Given the description of an element on the screen output the (x, y) to click on. 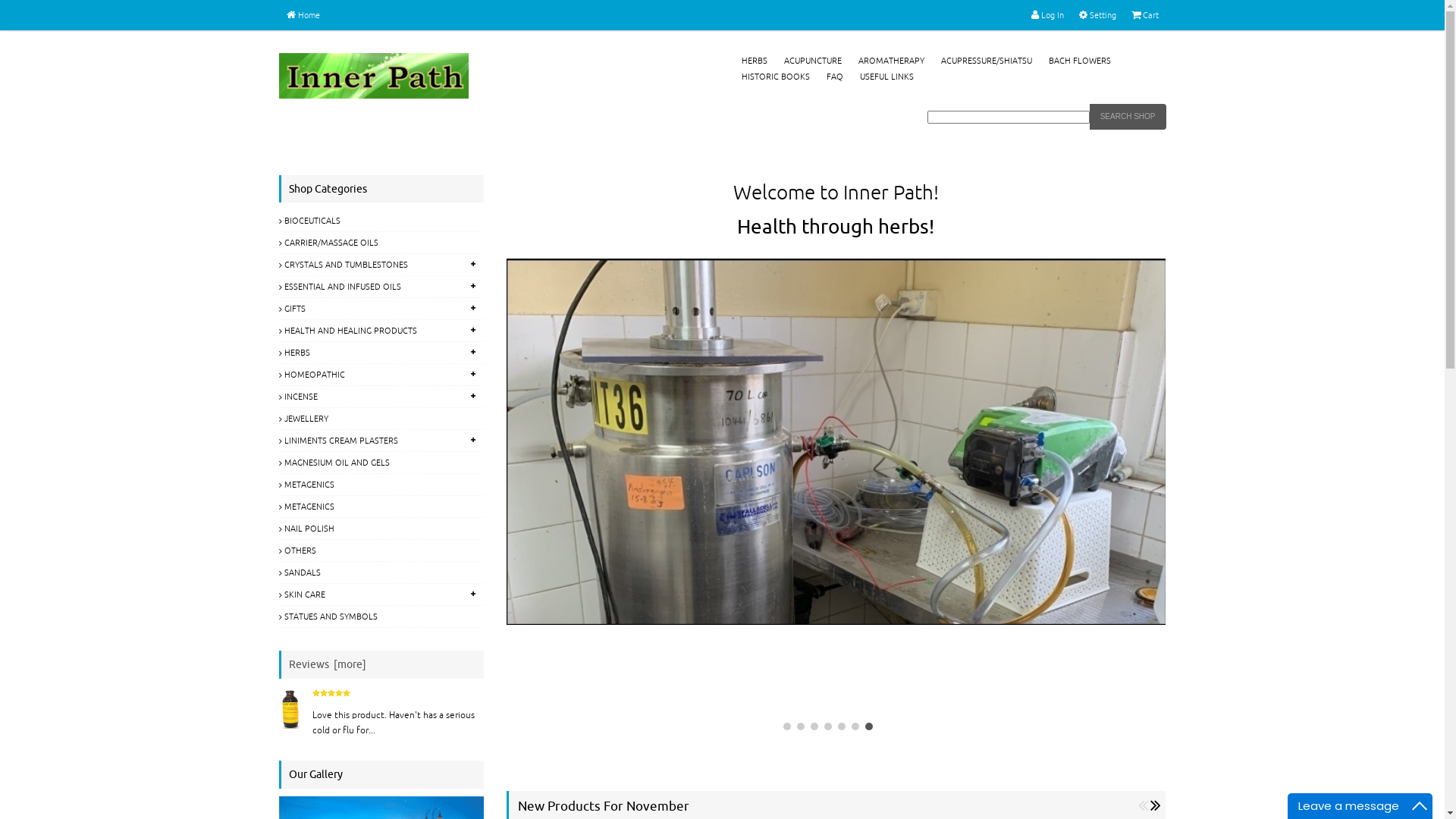
 Cold & Flu Mix 200 ml  Element type: hover (291, 707)
AROMATHERAPY Element type: text (891, 60)
HOMEOPATHIC Element type: text (381, 374)
BIOCEUTICALS Element type: text (381, 221)
HERBS Element type: text (381, 353)
HEALTH AND HEALING PRODUCTS Element type: text (381, 331)
BACH FLOWERS Element type: text (1078, 60)
MAGNESIUM OIL AND GELS Element type: text (381, 462)
METAGENICS Element type: text (381, 506)
NAIL POLISH Element type: text (381, 528)
USEFUL LINKS Element type: text (886, 76)
Home Element type: text (303, 15)
ACUPUNCTURE Element type: text (812, 60)
SANDALS Element type: text (381, 572)
 Powered by Zen Cart :: The Art of E-Commerce  Element type: hover (373, 75)
INCENSE Element type: text (381, 396)
3 Element type: text (814, 726)
Log In Element type: text (1047, 15)
Maximize Element type: hover (1419, 806)
METAGENICS Element type: text (381, 484)
Setting Element type: text (1096, 15)
5 Element type: text (841, 726)
2 Element type: text (800, 726)
CRYSTALS AND TUMBLESTONES Element type: text (381, 265)
HISTORIC BOOKS Element type: text (775, 76)
OTHERS Element type: text (381, 550)
ACUPRESSURE/SHIATSU Element type: text (985, 60)
FAQ Element type: text (834, 76)
4 Element type: text (827, 726)
LINIMENTS CREAM PLASTERS Element type: text (381, 440)
6 Element type: text (855, 726)
1 Element type: text (786, 726)
CARRIER/MASSAGE OILS Element type: text (381, 243)
HERBS Element type: text (754, 60)
Reviews  [more] Element type: text (326, 664)
Cart Element type: text (1144, 15)
SKIN CARE Element type: text (381, 594)
GIFTS Element type: text (381, 309)
SEARCH SHOP Element type: text (1127, 116)
STATUES AND SYMBOLS Element type: text (381, 616)
JEWELLERY Element type: text (381, 418)
ESSENTIAL AND INFUSED OILS Element type: text (381, 287)
7 Element type: text (868, 726)
